Given the description of an element on the screen output the (x, y) to click on. 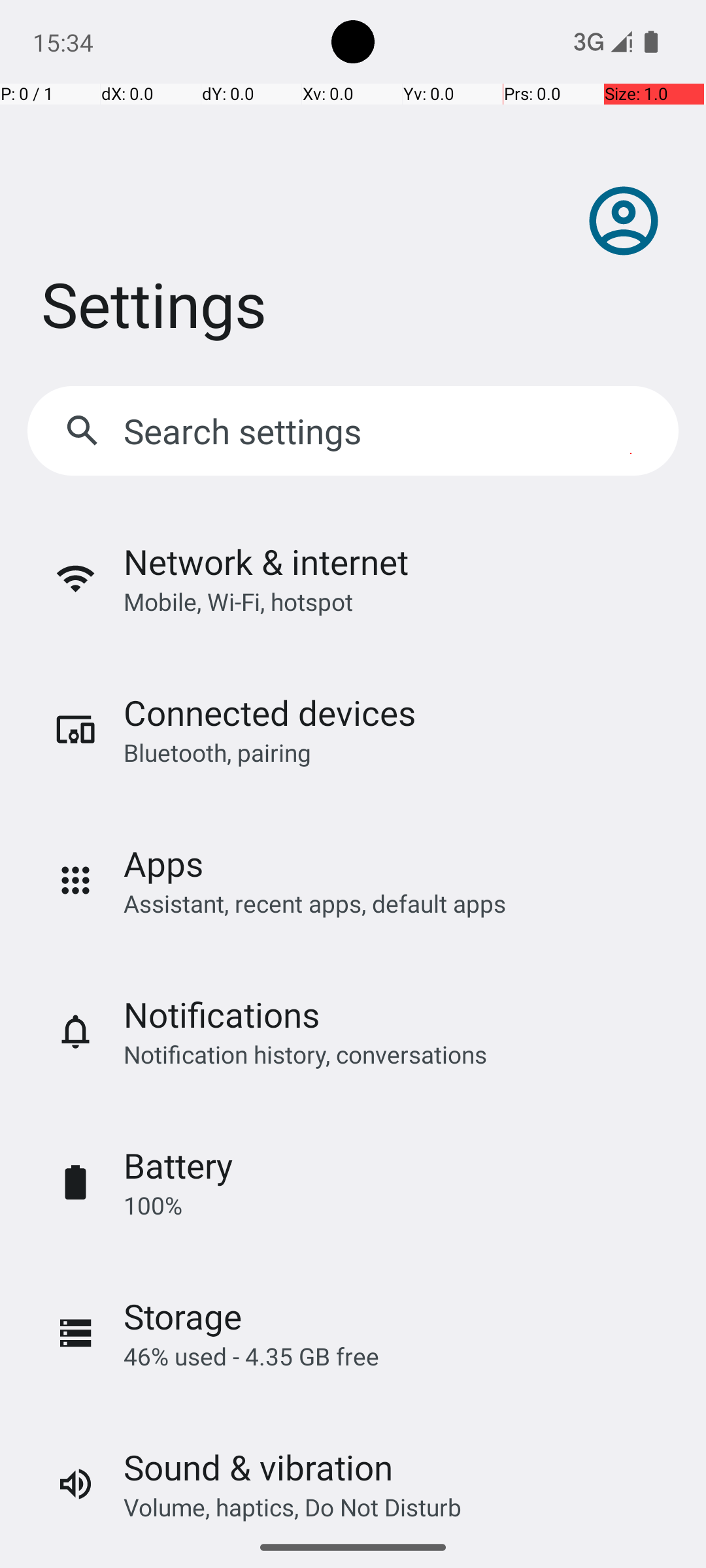
46% used - 4.35 GB free Element type: android.widget.TextView (251, 1355)
